Given the description of an element on the screen output the (x, y) to click on. 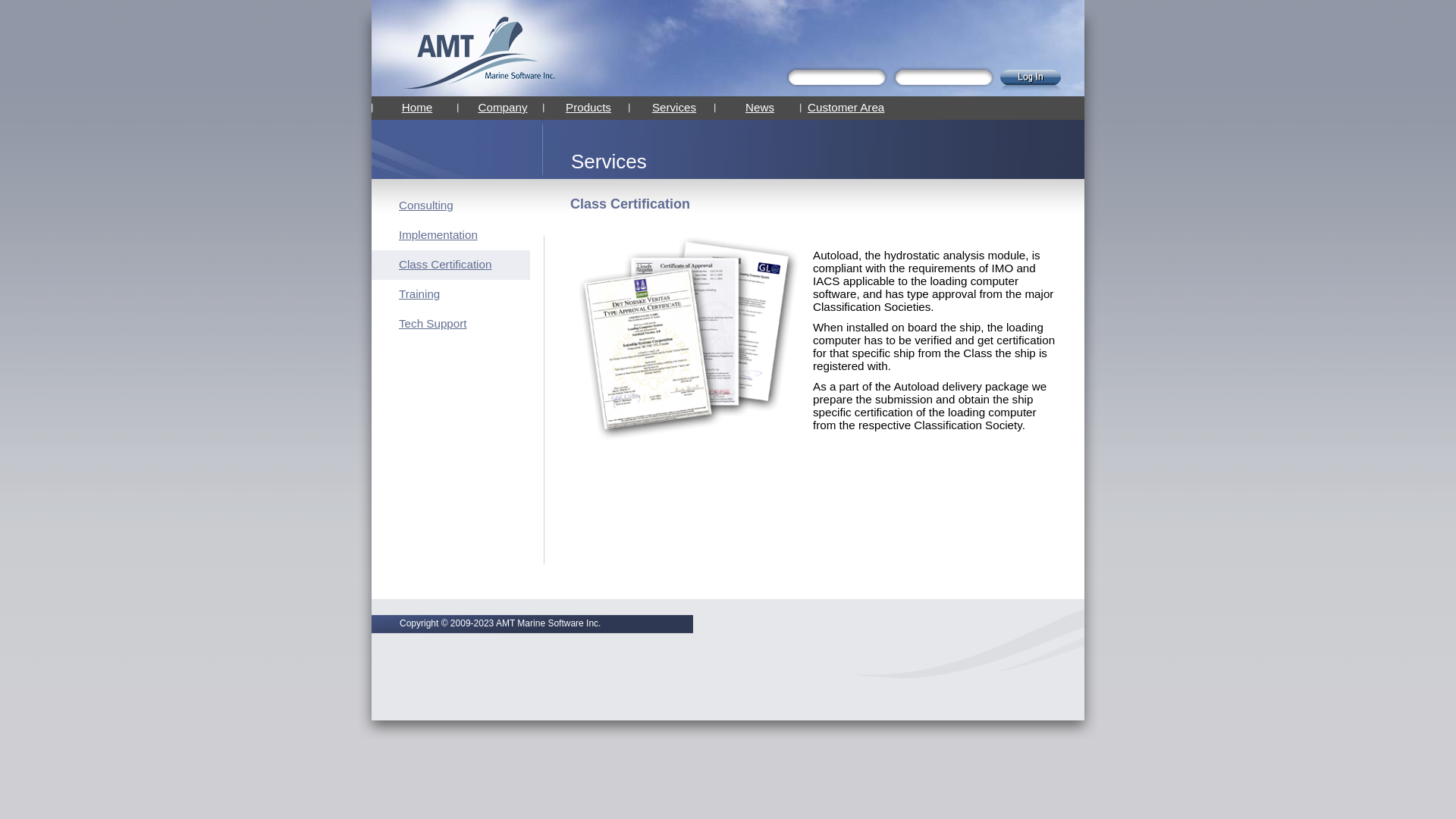
Company Element type: text (502, 107)
Customer Area Element type: text (845, 107)
Implementation Element type: text (437, 234)
News Element type: text (759, 107)
Training Element type: text (418, 293)
Services Element type: text (673, 107)
Consulting Element type: text (425, 204)
Products Element type: text (587, 107)
Type Approval Certificates Element type: hover (691, 337)
Class Certification Element type: text (444, 263)
Home Element type: text (416, 107)
Tech Support Element type: text (432, 322)
